Given the description of an element on the screen output the (x, y) to click on. 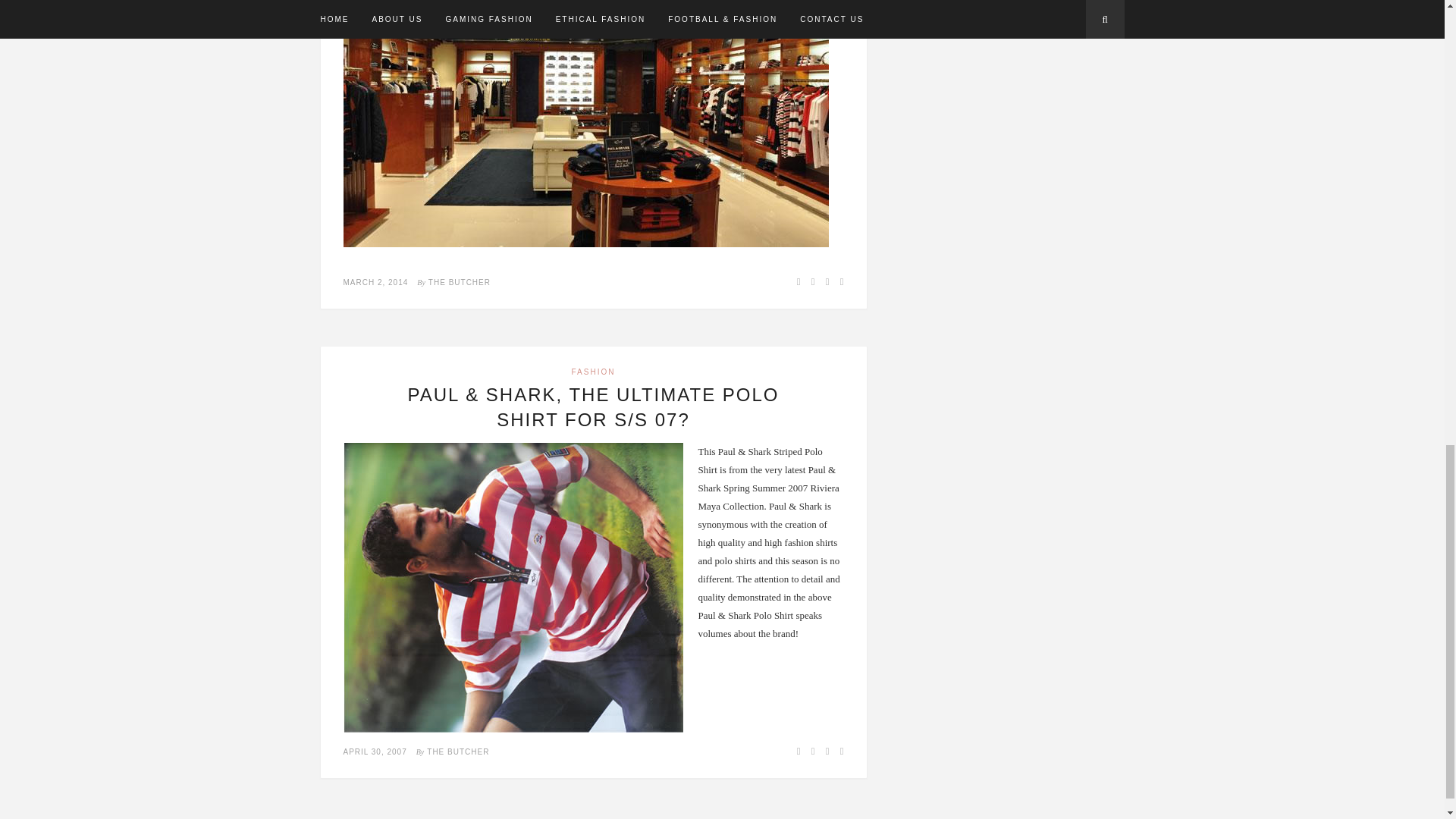
THE BUTCHER (457, 751)
THE BUTCHER (459, 282)
Posts by The Butcher (457, 751)
FASHION (593, 371)
Posts by The Butcher (459, 282)
